Given the description of an element on the screen output the (x, y) to click on. 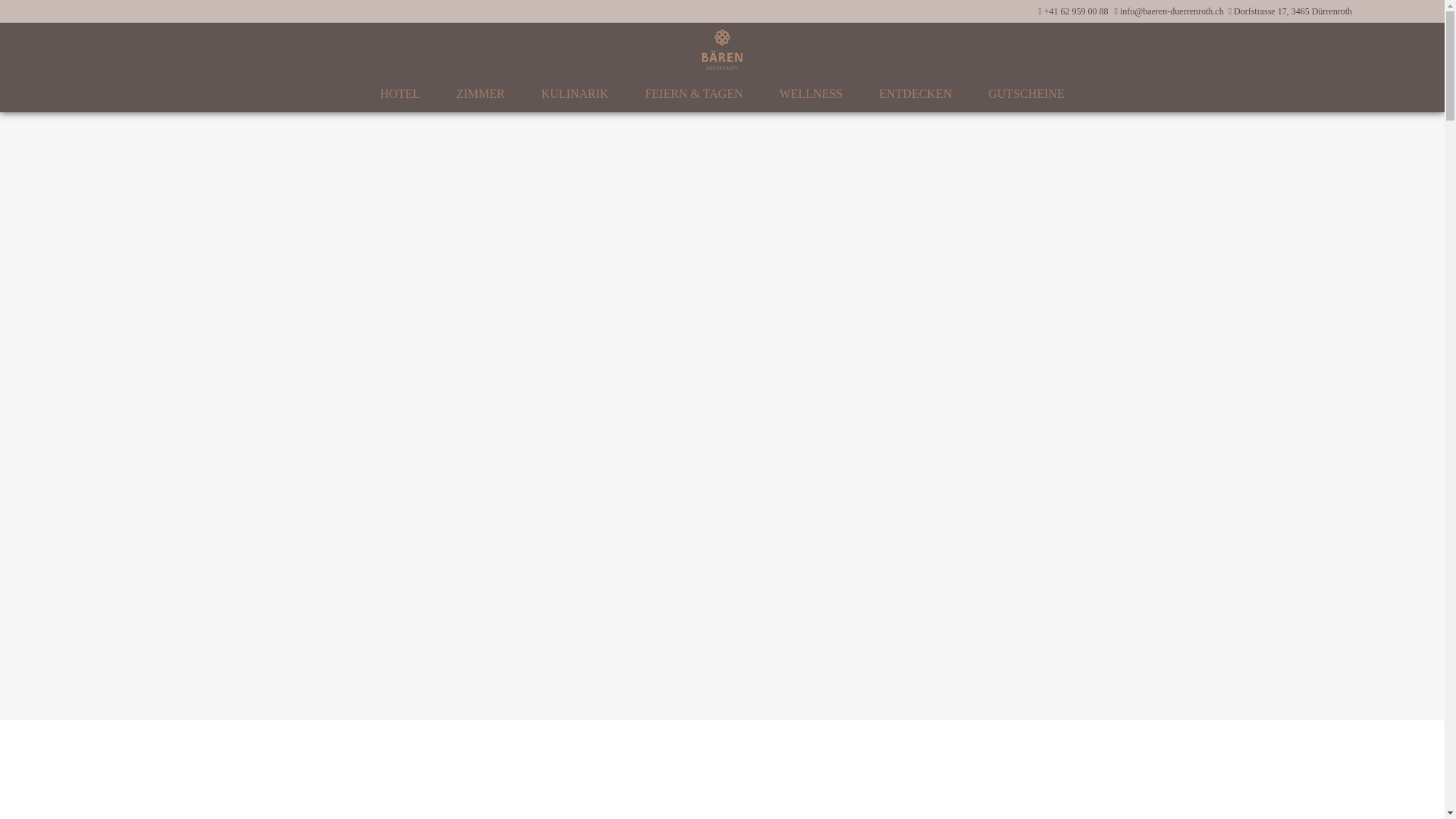
GUTSCHEINE Element type: text (1025, 93)
info@baeren-duerrenroth.ch Element type: text (1171, 10)
ENGLISH Element type: text (1424, 10)
KULINARIK Element type: text (575, 93)
ENTDECKEN Element type: text (914, 93)
+41 62 959 00 88 Element type: text (1076, 10)
Zur Startseite Element type: hover (722, 47)
ZIMMER Element type: text (480, 93)
DEUTSCH Element type: text (1382, 10)
WELLNESS Element type: text (811, 93)
HOTEL Element type: text (399, 93)
FEIERN & TAGEN Element type: text (694, 93)
